Given the description of an element on the screen output the (x, y) to click on. 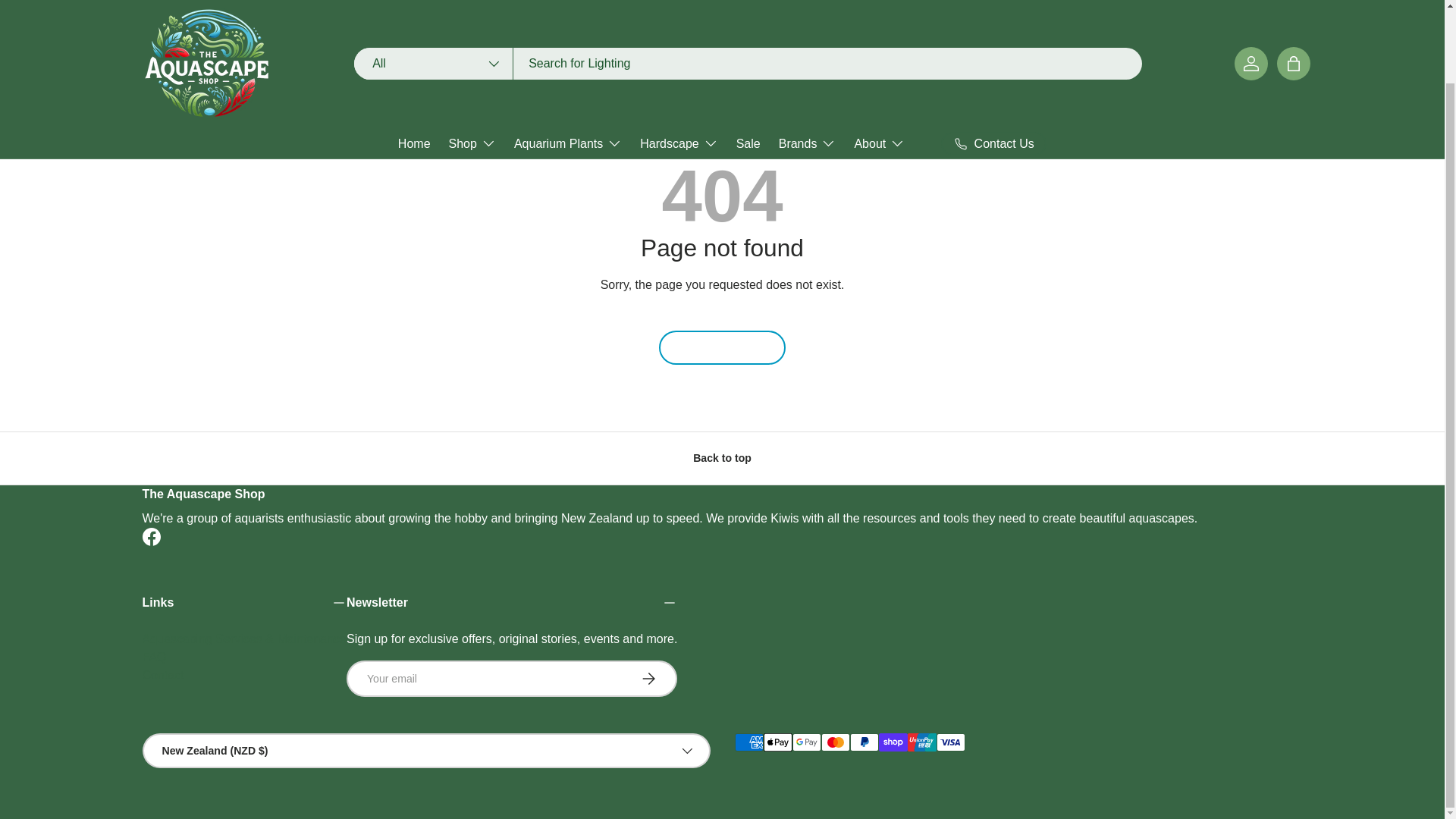
Mastercard (834, 742)
American Express (747, 742)
Google Pay (806, 742)
PayPal (862, 742)
Log in (1251, 13)
Apple Pay (777, 742)
Shop (472, 89)
Shop Pay (892, 742)
The Aquascape Shop on Facebook (151, 536)
All (433, 12)
